Given the description of an element on the screen output the (x, y) to click on. 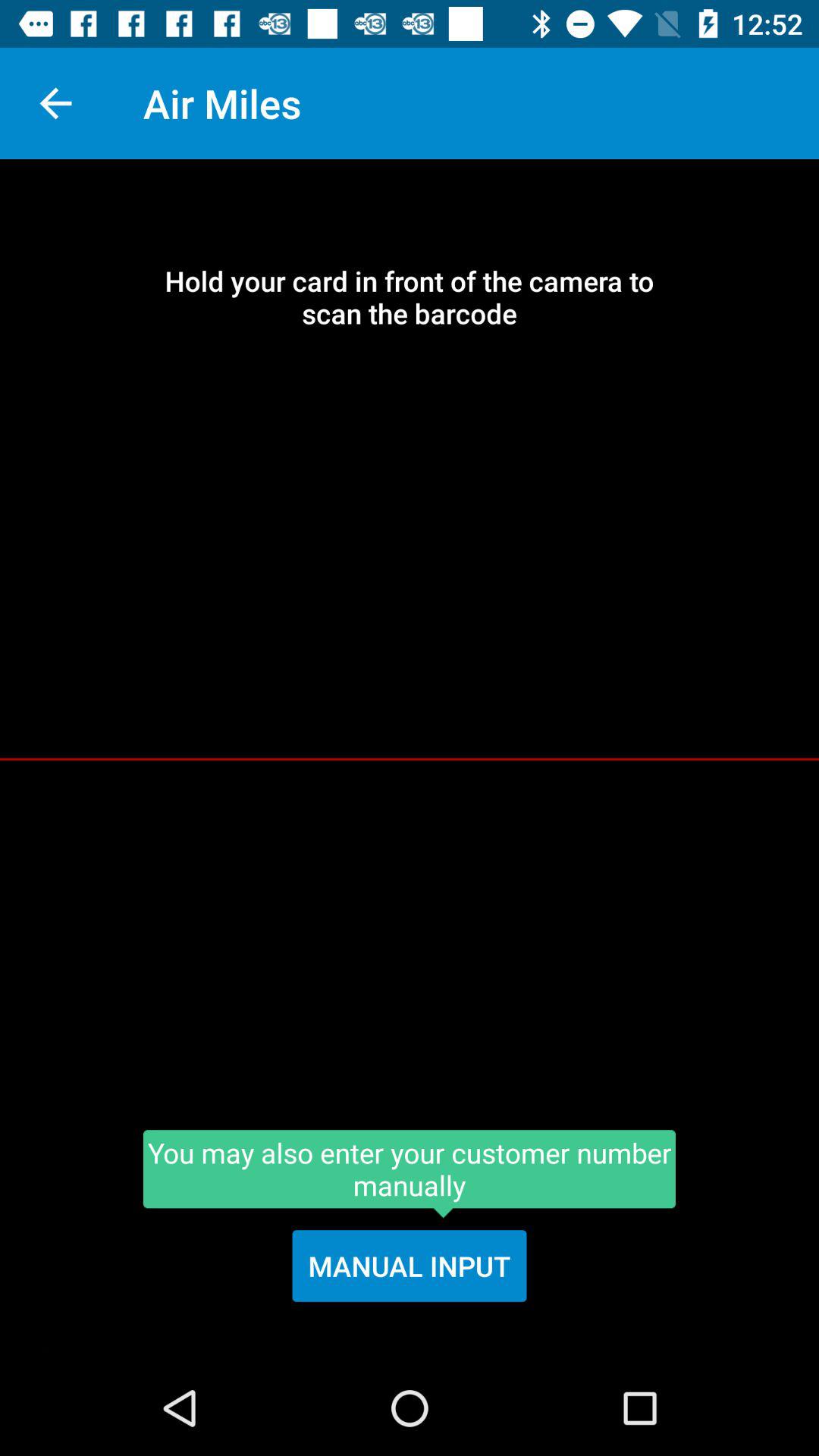
choose the item above hold your card icon (55, 103)
